Given the description of an element on the screen output the (x, y) to click on. 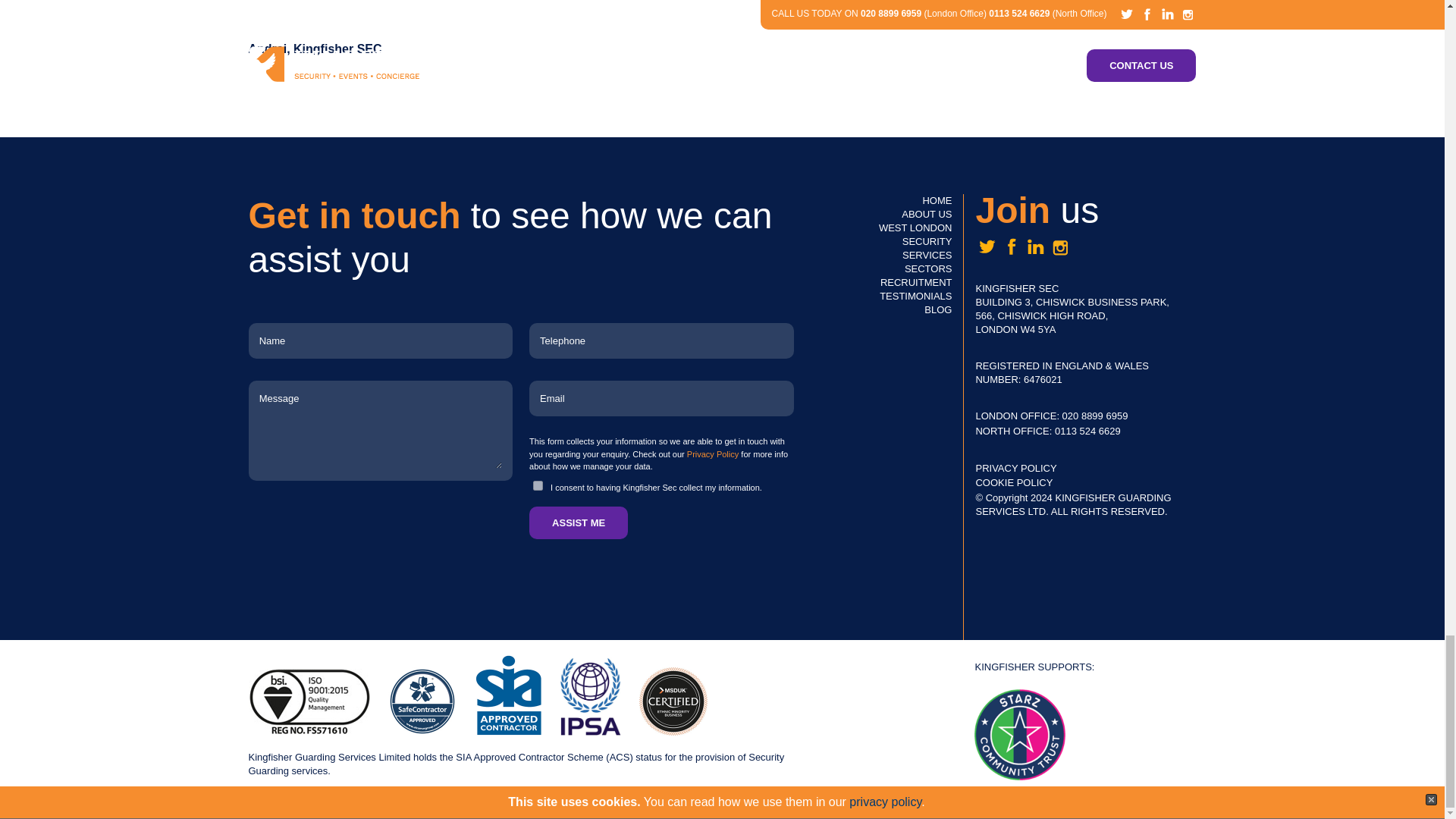
SECTORS (928, 268)
Assist Me (578, 522)
WEST LONDON SECURITY (915, 234)
I consent to having Kingfisher Sec collect my information. (537, 485)
Privacy Policy (712, 453)
SERVICES (927, 255)
HOME (936, 200)
ABOUT US (926, 214)
Assist Me (578, 522)
